Given the description of an element on the screen output the (x, y) to click on. 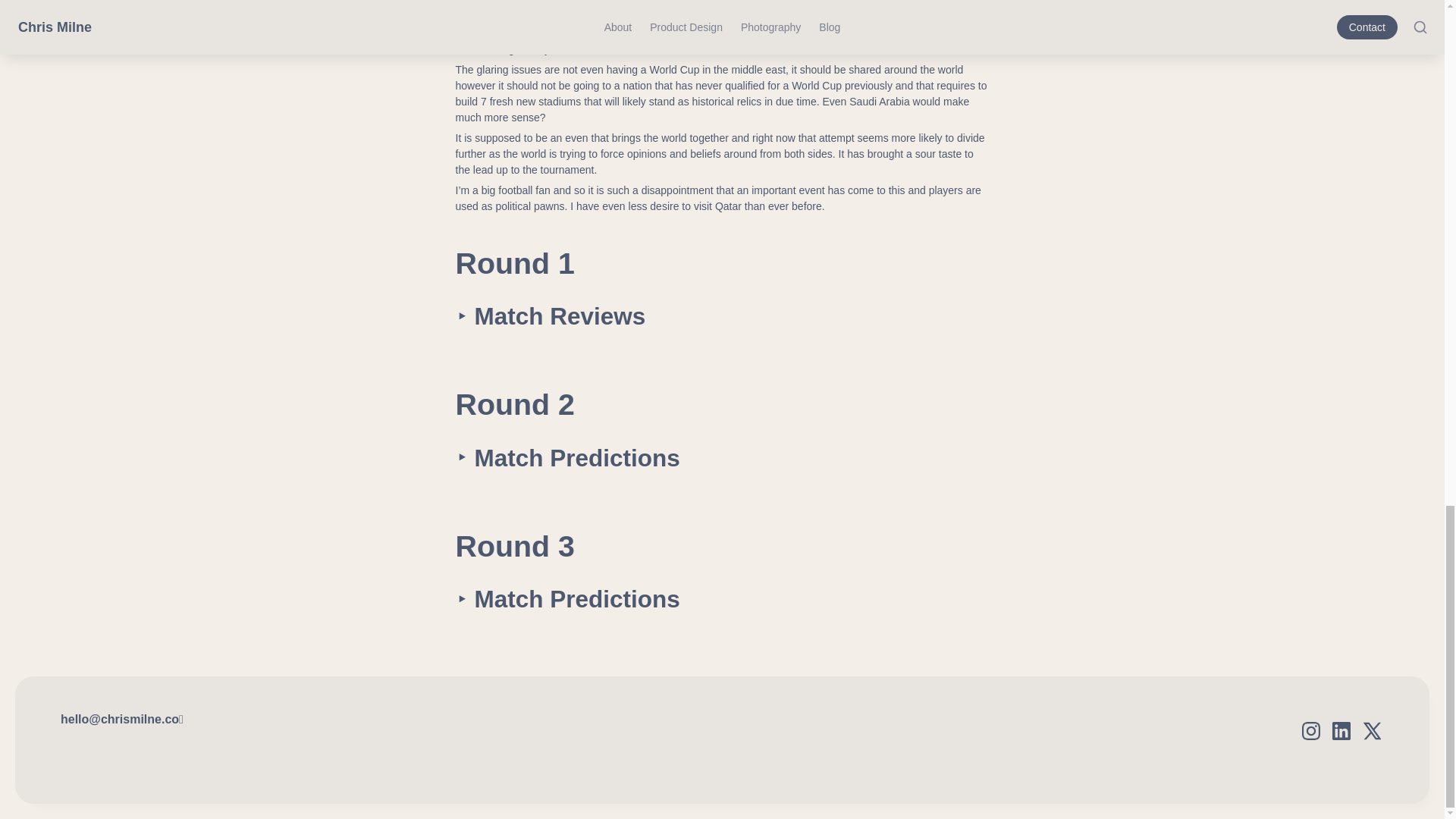
LinkedIn (1341, 730)
Instagram (1310, 730)
LinkedIn (1341, 730)
X (1371, 730)
X (1371, 730)
Instagram (1310, 730)
